Given the description of an element on the screen output the (x, y) to click on. 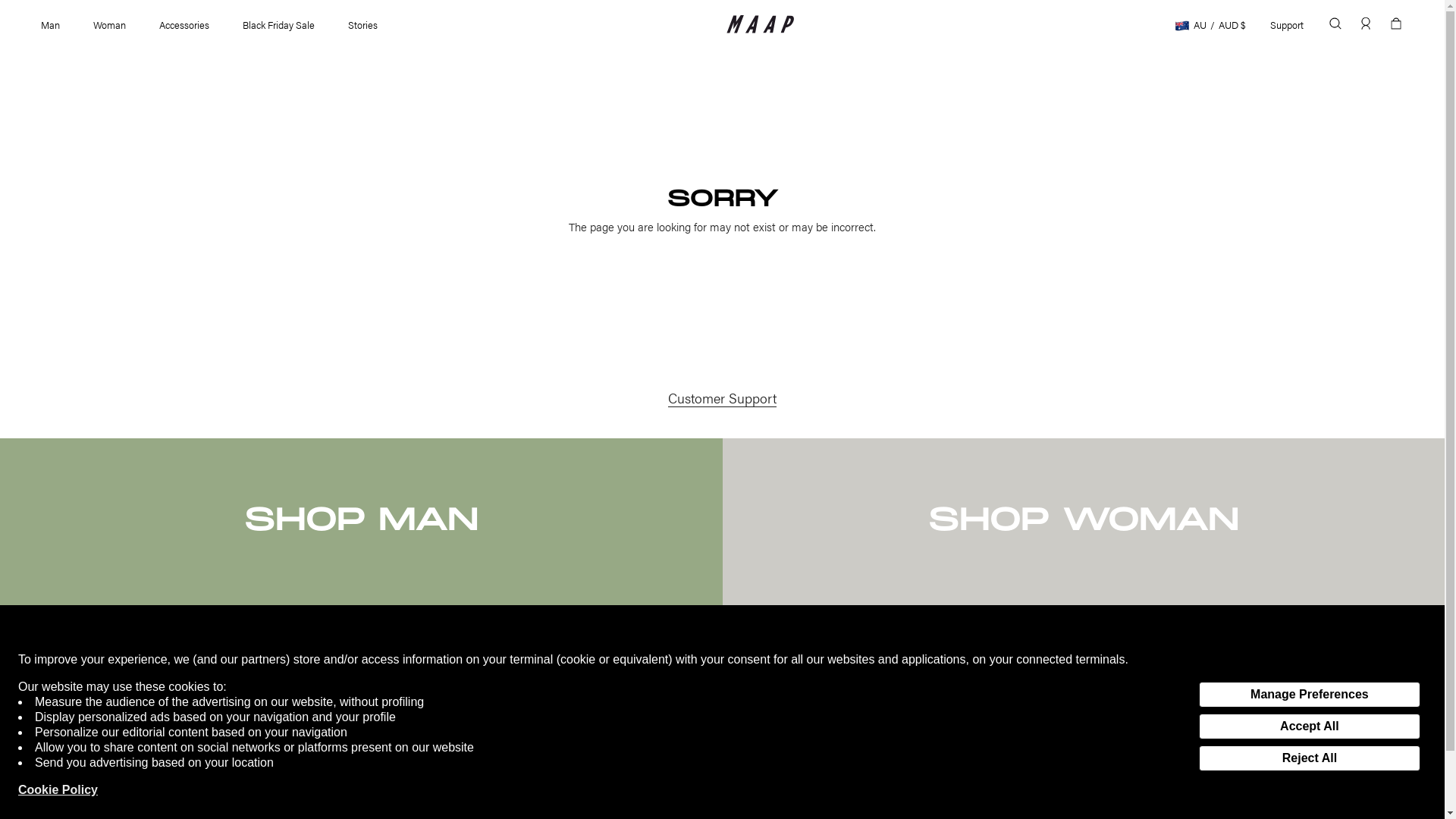
About Element type: text (341, 683)
Woman Element type: text (109, 24)
Customer Support Element type: text (722, 397)
MAAP LaB Element type: text (351, 756)
Man Element type: text (49, 24)
Strava Element type: text (637, 719)
Stories Element type: text (362, 24)
Crash Replacement Element type: text (76, 756)
Returns Element type: text (50, 738)
Reject All Element type: text (1309, 758)
Opens a widget where you can find more information Element type: hover (1376, 792)
Accept All Element type: text (1309, 726)
Sitemap Element type: text (52, 810)
SHOP WOMAN Element type: text (1082, 521)
FAQ Element type: text (43, 774)
Youtube Element type: text (641, 738)
Instagram Element type: text (645, 683)
Terms and Conditions Element type: text (374, 738)
Accessories Element type: text (184, 24)
Privacy Policy Element type: text (357, 719)
Shipping Element type: text (53, 719)
Stockists Element type: text (348, 701)
Black Friday Sale Element type: text (278, 24)
SHOP MAN Element type: text (361, 521)
AU
/
AUD $ Element type: text (1209, 24)
Careers Element type: text (51, 792)
Cookie Policy Element type: text (57, 789)
Facebook Element type: text (644, 701)
Manage Preferences Element type: text (1309, 694)
